Given the description of an element on the screen output the (x, y) to click on. 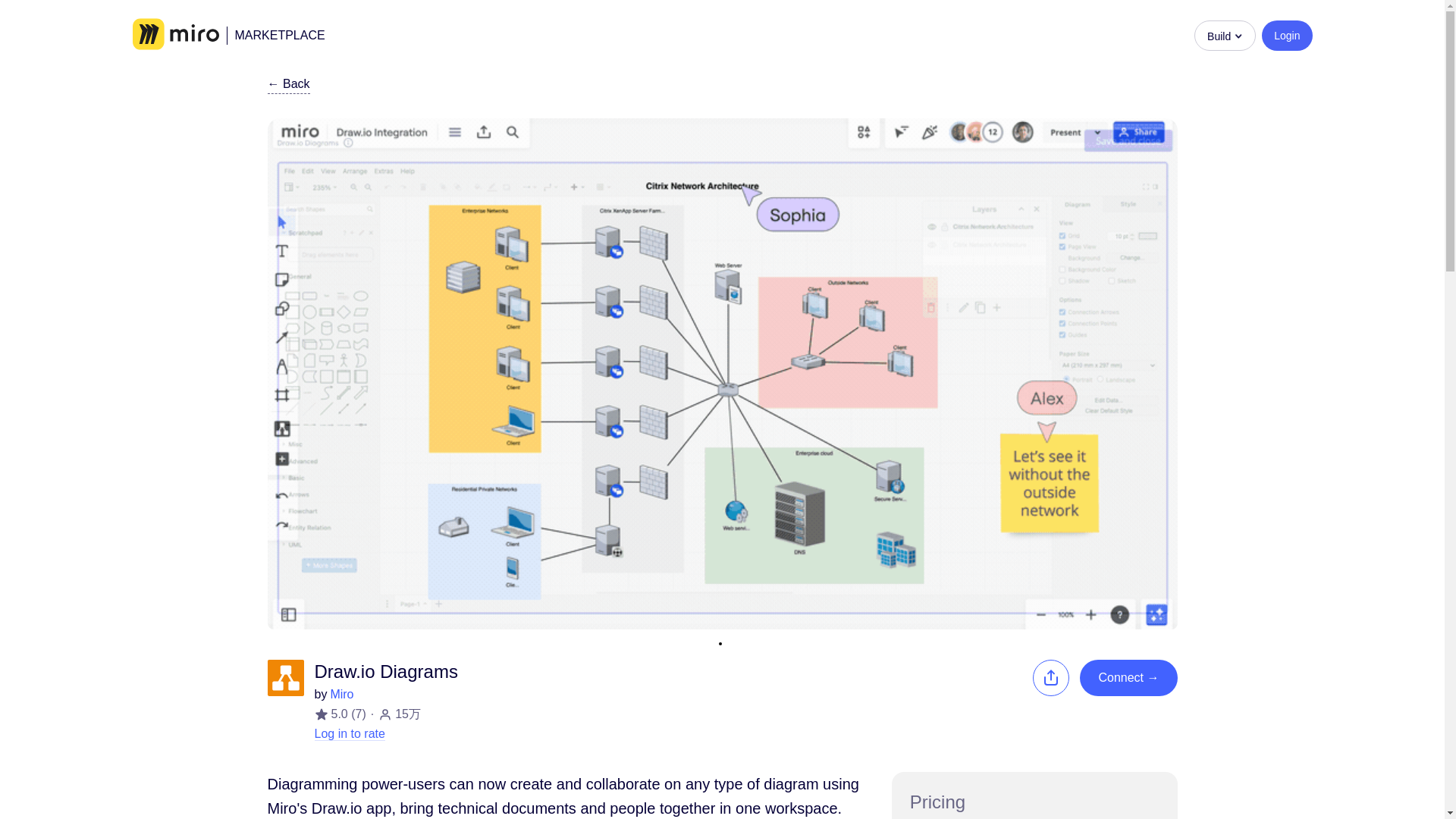
Log in to rate (349, 734)
Build (1224, 34)
MARKETPLACE (274, 34)
Miro (175, 35)
Login (1286, 34)
Miro App Marketplace (274, 34)
Miro (341, 694)
